Given the description of an element on the screen output the (x, y) to click on. 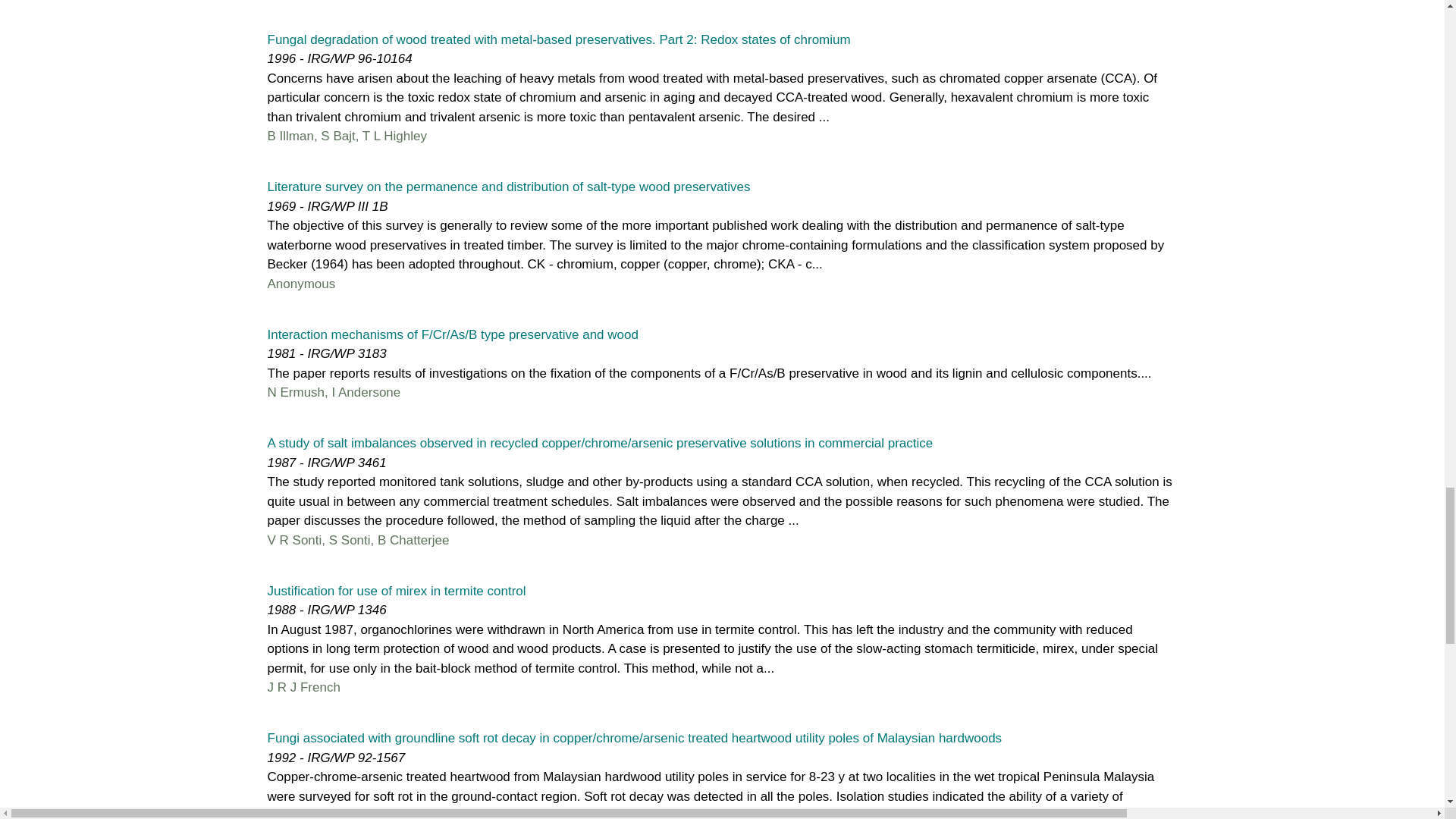
Click for more information about document. (507, 186)
Click for more information about document. (558, 38)
Click for more information about document. (395, 590)
Click for more information about document. (451, 334)
Click for more information about document. (599, 442)
